Given the description of an element on the screen output the (x, y) to click on. 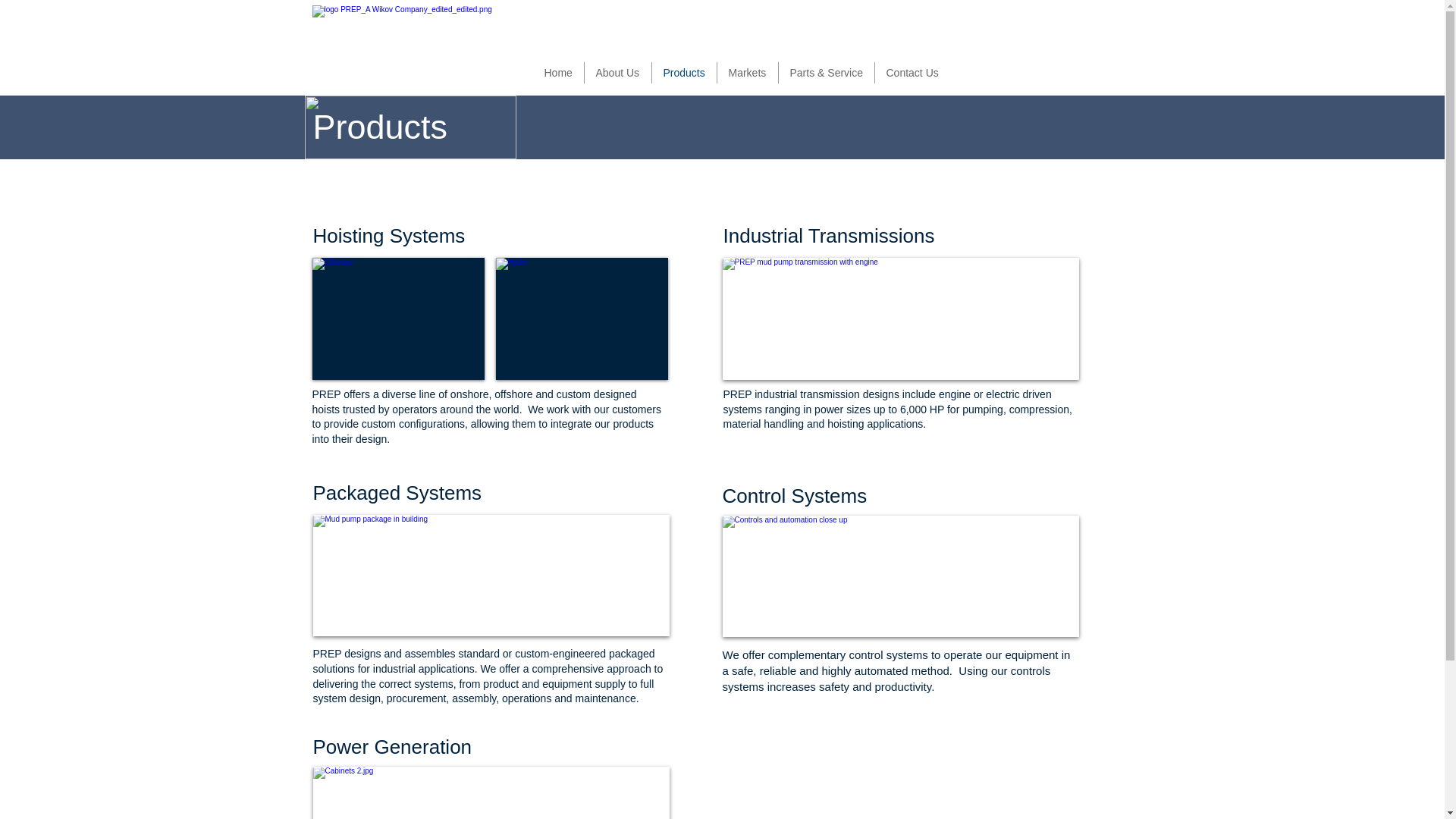
Home (557, 72)
Markets (747, 72)
Mud pump package in building (490, 575)
PREP - A Wikov Company (405, 47)
Contact Us (914, 72)
Drilling Rig Controls  (900, 576)
Drilling Rig Controls  (490, 792)
Mud pump transmission and engine (900, 318)
Products (684, 72)
About Us (616, 72)
